Given the description of an element on the screen output the (x, y) to click on. 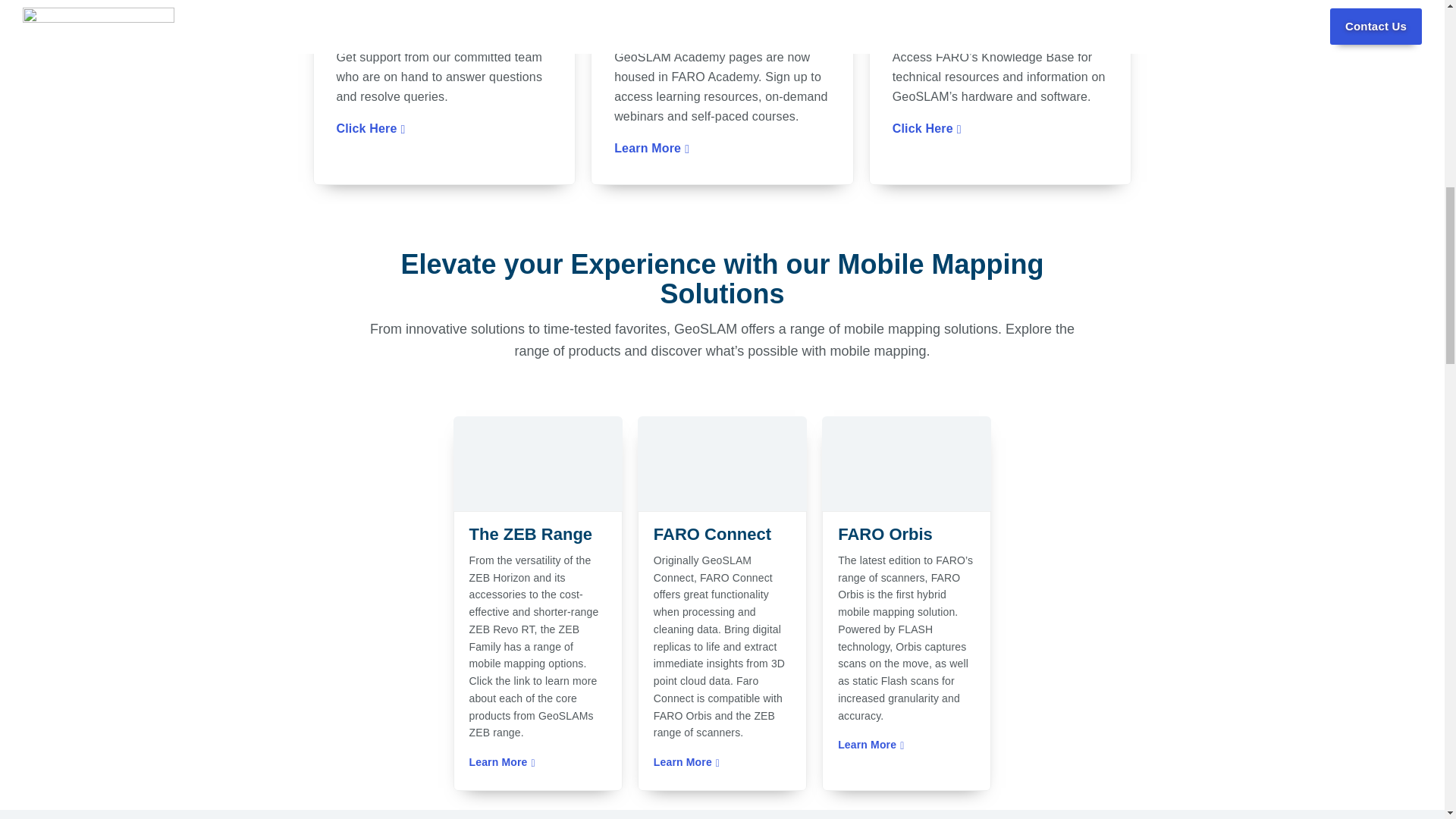
The ZEB Range (536, 534)
Knowledge Base (1000, 30)
Learn More (651, 148)
FARO Connect (721, 534)
Learn More (501, 762)
Click Here (926, 128)
Academy Information (721, 30)
Learn More (686, 762)
Click Here (371, 128)
FARO Orbis (906, 534)
